Given the description of an element on the screen output the (x, y) to click on. 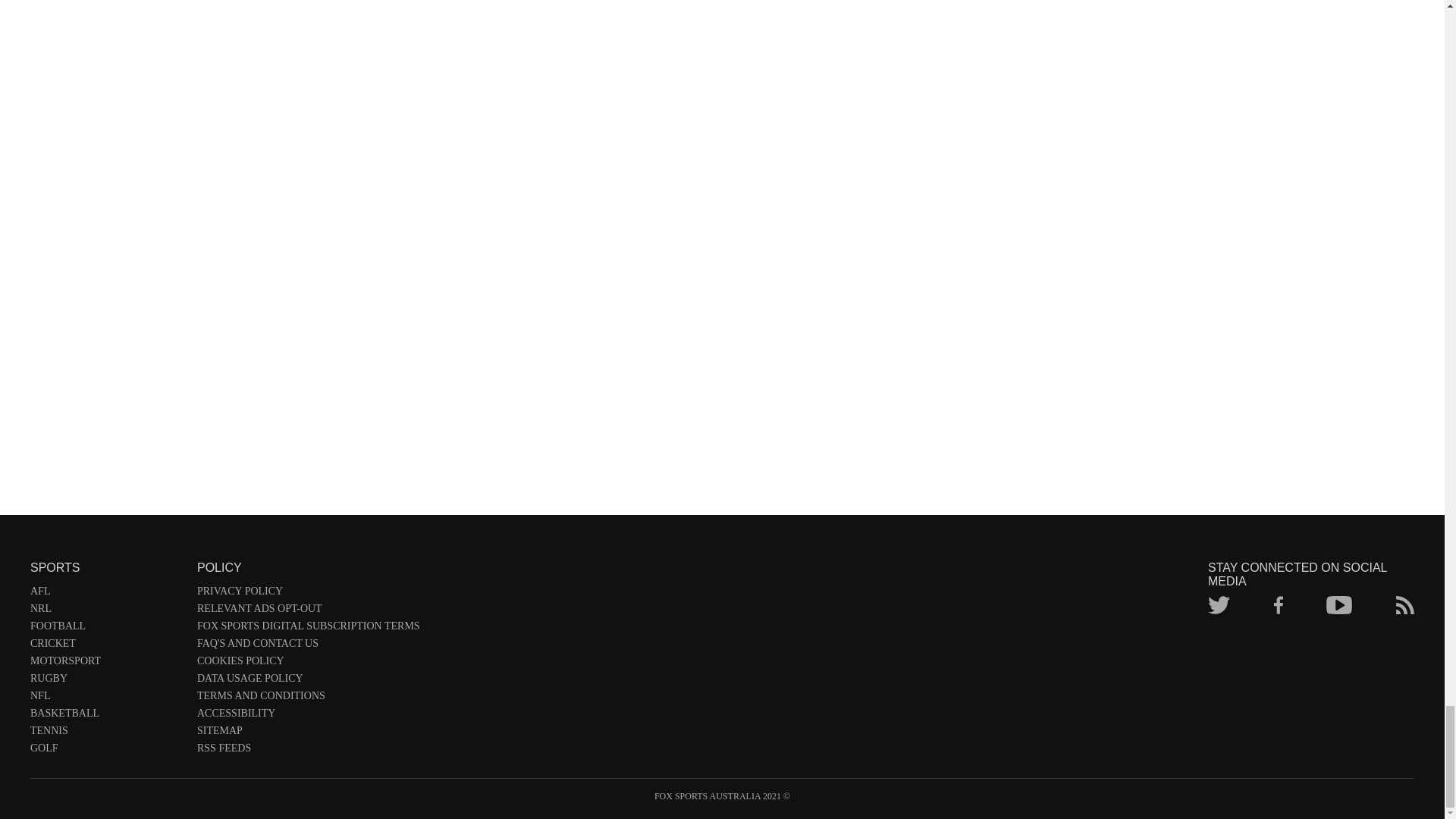
GOLF (106, 751)
COOKIES POLICY (308, 663)
PRIVACY POLICY (308, 593)
NRL (106, 610)
FOOTBALL (106, 628)
NFL (106, 698)
BASKETBALL (106, 715)
DATA USAGE POLICY (308, 681)
RELEVANT ADS OPT-OUT (308, 610)
RSS FEEDS (308, 751)
